Given the description of an element on the screen output the (x, y) to click on. 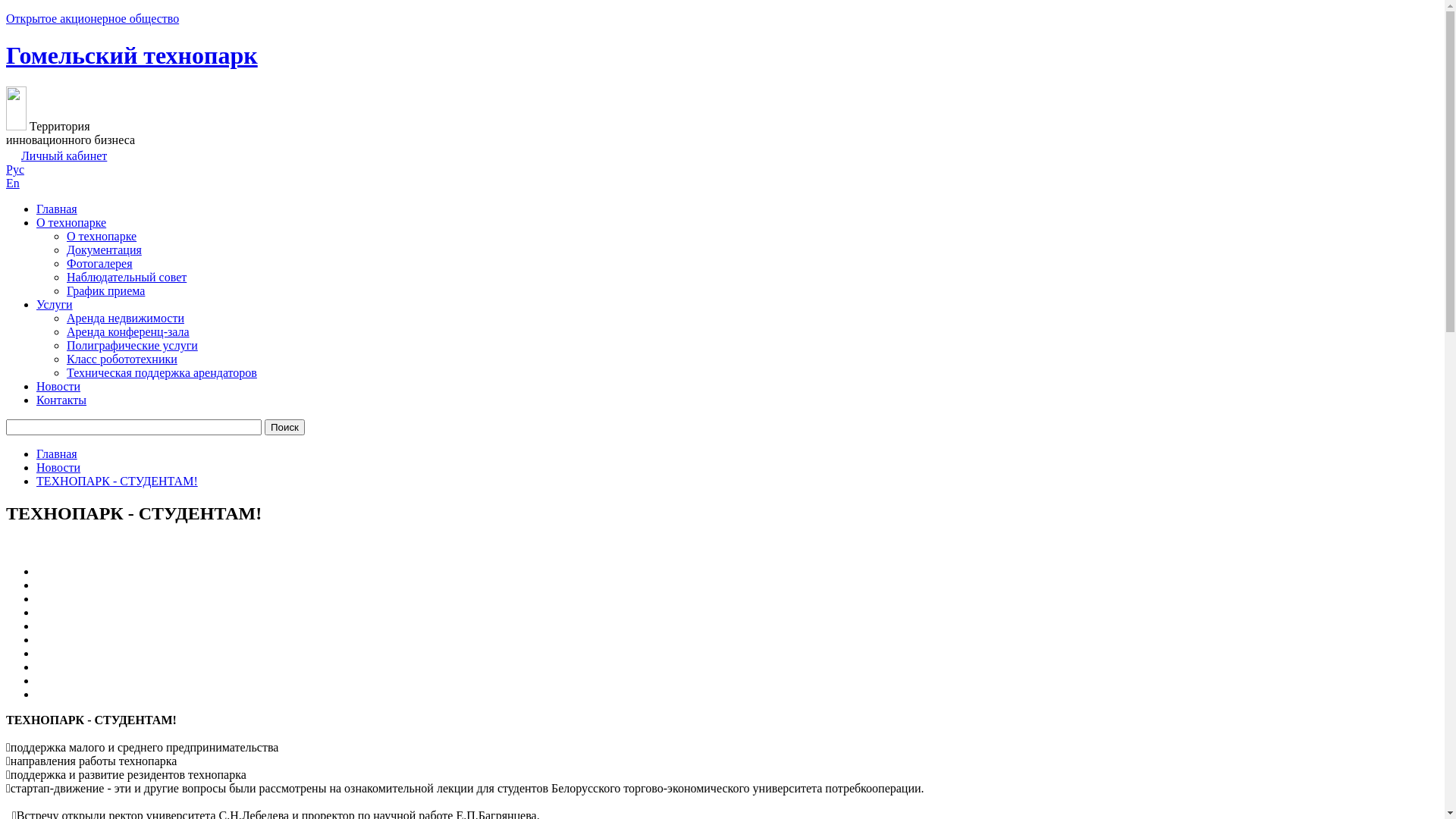
En Element type: text (12, 182)
